Given the description of an element on the screen output the (x, y) to click on. 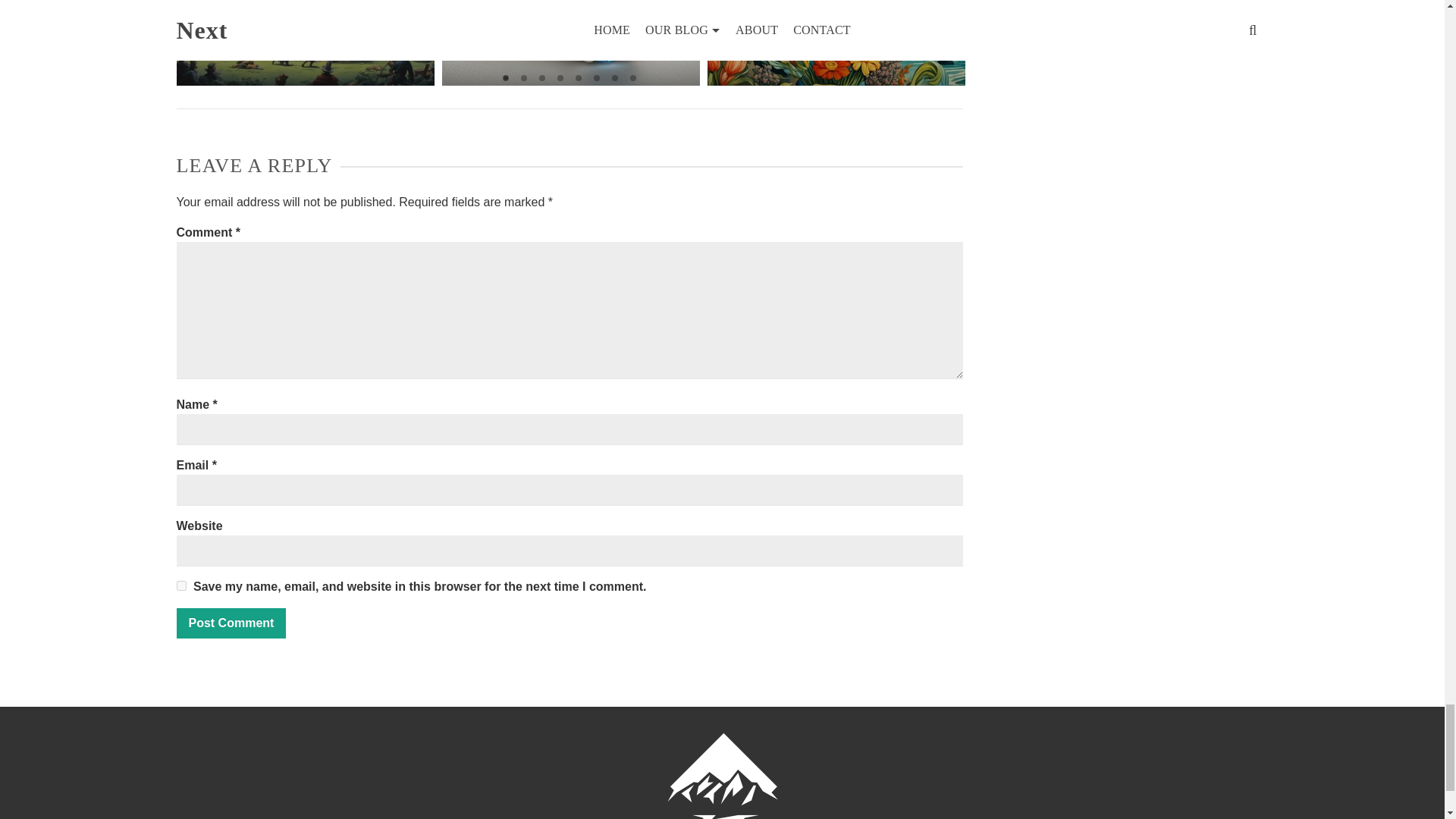
Post Comment (230, 623)
yes (181, 585)
